Given the description of an element on the screen output the (x, y) to click on. 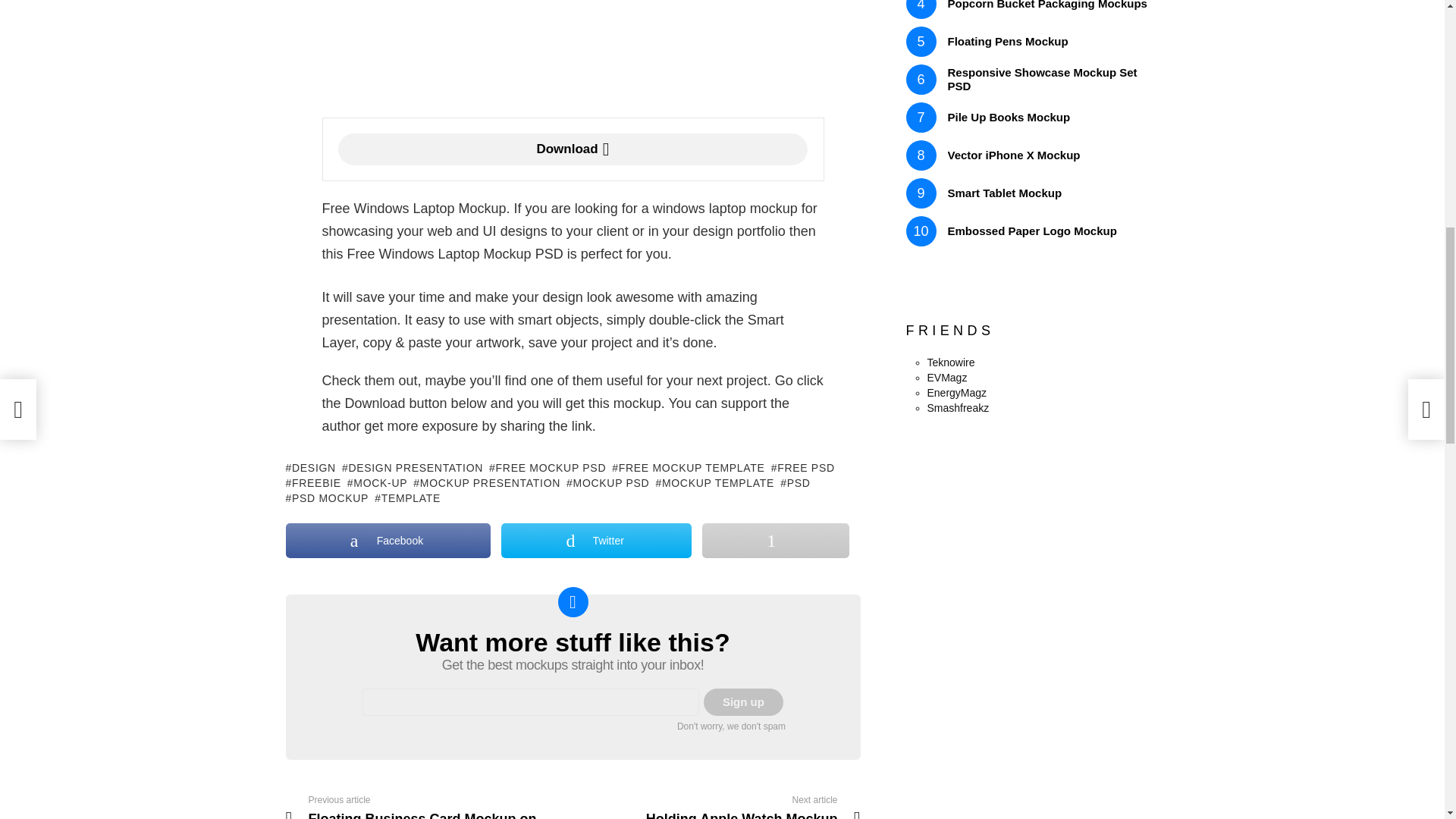
FREE MOCKUP PSD (547, 467)
Advertisement (572, 54)
DESIGN (309, 467)
Download (572, 149)
DESIGN PRESENTATION (412, 467)
FREE MOCKUP TEMPLATE (687, 467)
Sign up (743, 701)
